Given the description of an element on the screen output the (x, y) to click on. 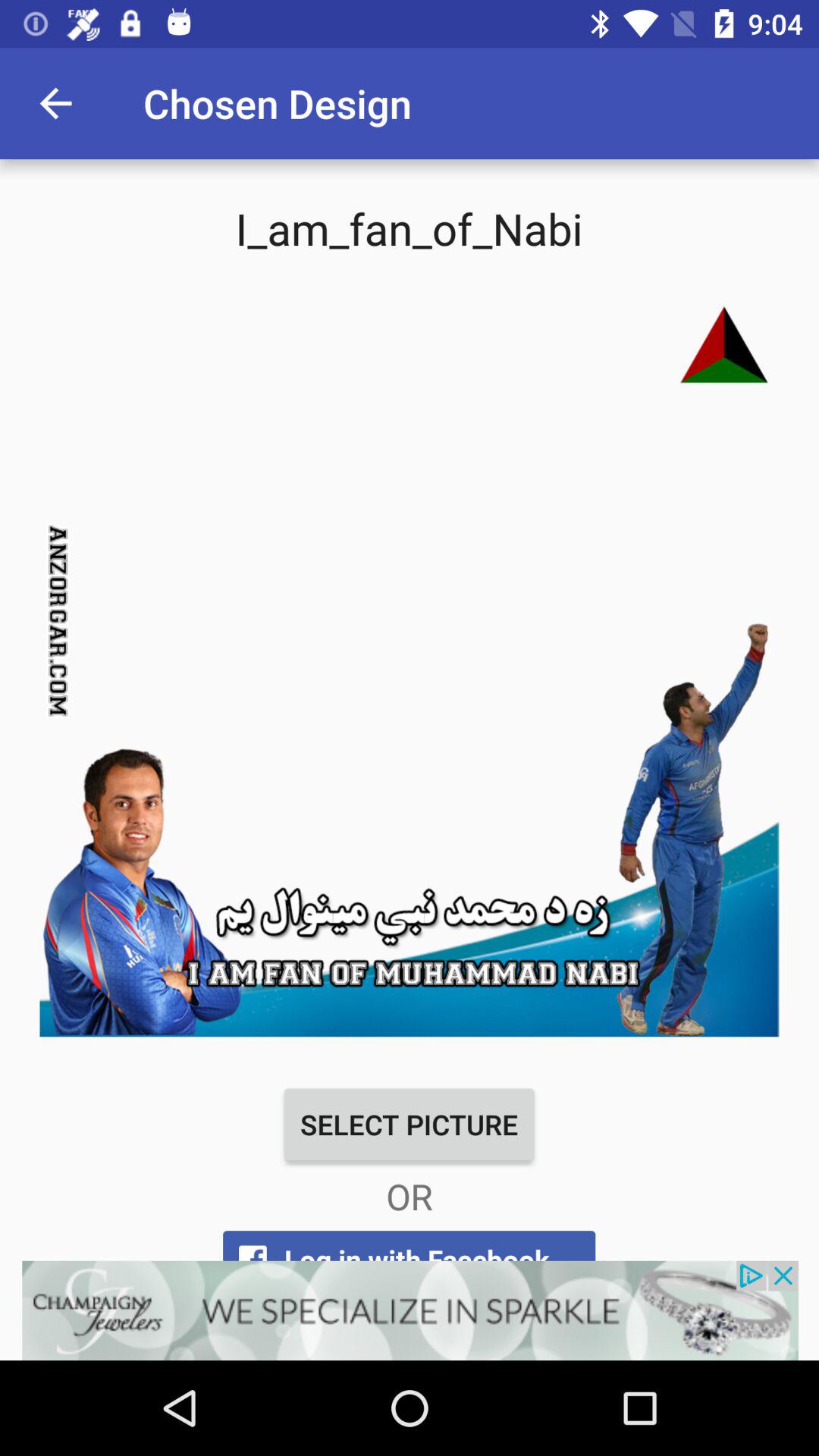
adverstment option (409, 1310)
